Given the description of an element on the screen output the (x, y) to click on. 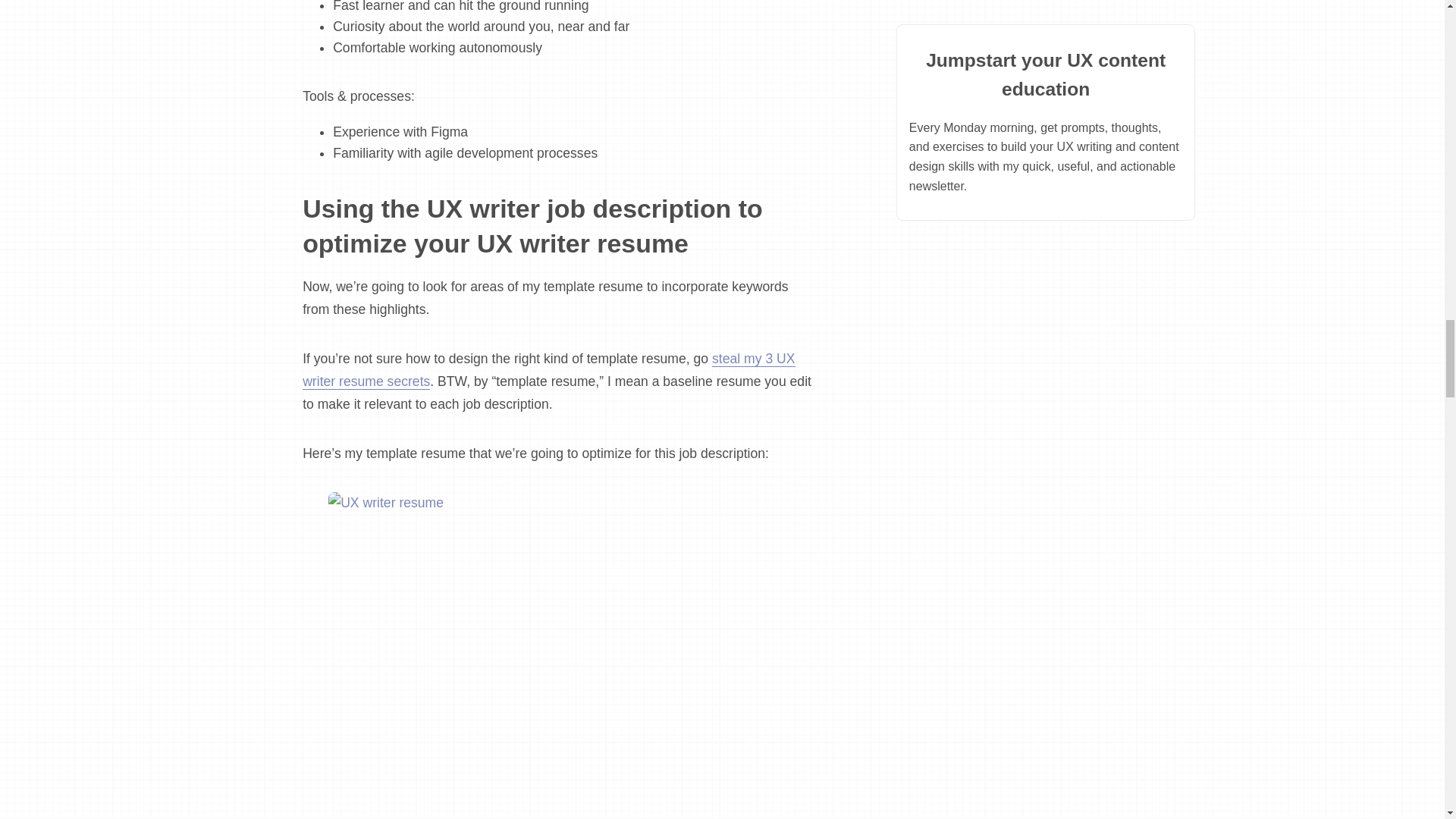
steal my 3 UX writer resume secrets (548, 370)
